Given the description of an element on the screen output the (x, y) to click on. 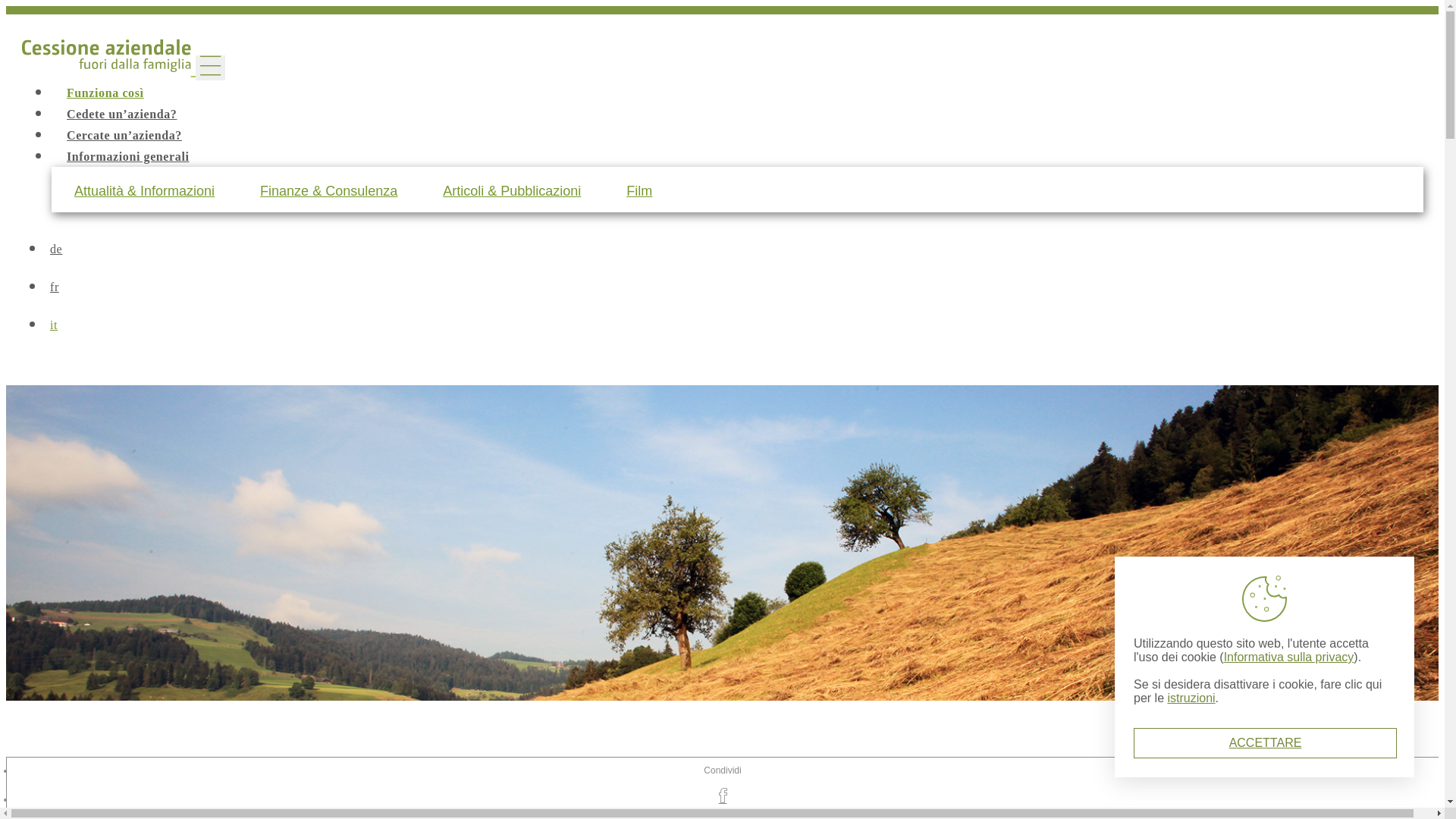
de Element type: text (734, 249)
3 Element type: text (125, 778)
fr Element type: text (734, 287)
Informazioni generali Element type: text (127, 156)
Articoli & Pubblicazioni Element type: text (511, 190)
2 Element type: text (107, 778)
istruzioni Element type: text (1190, 697)
1 Element type: text (89, 778)
it Element type: text (734, 325)
Informativa sulla privacy Element type: text (1288, 656)
Finanze & Consulenza Element type: text (328, 190)
Film Element type: text (638, 190)
ACCETTARE Element type: text (1264, 743)
